Given the description of an element on the screen output the (x, y) to click on. 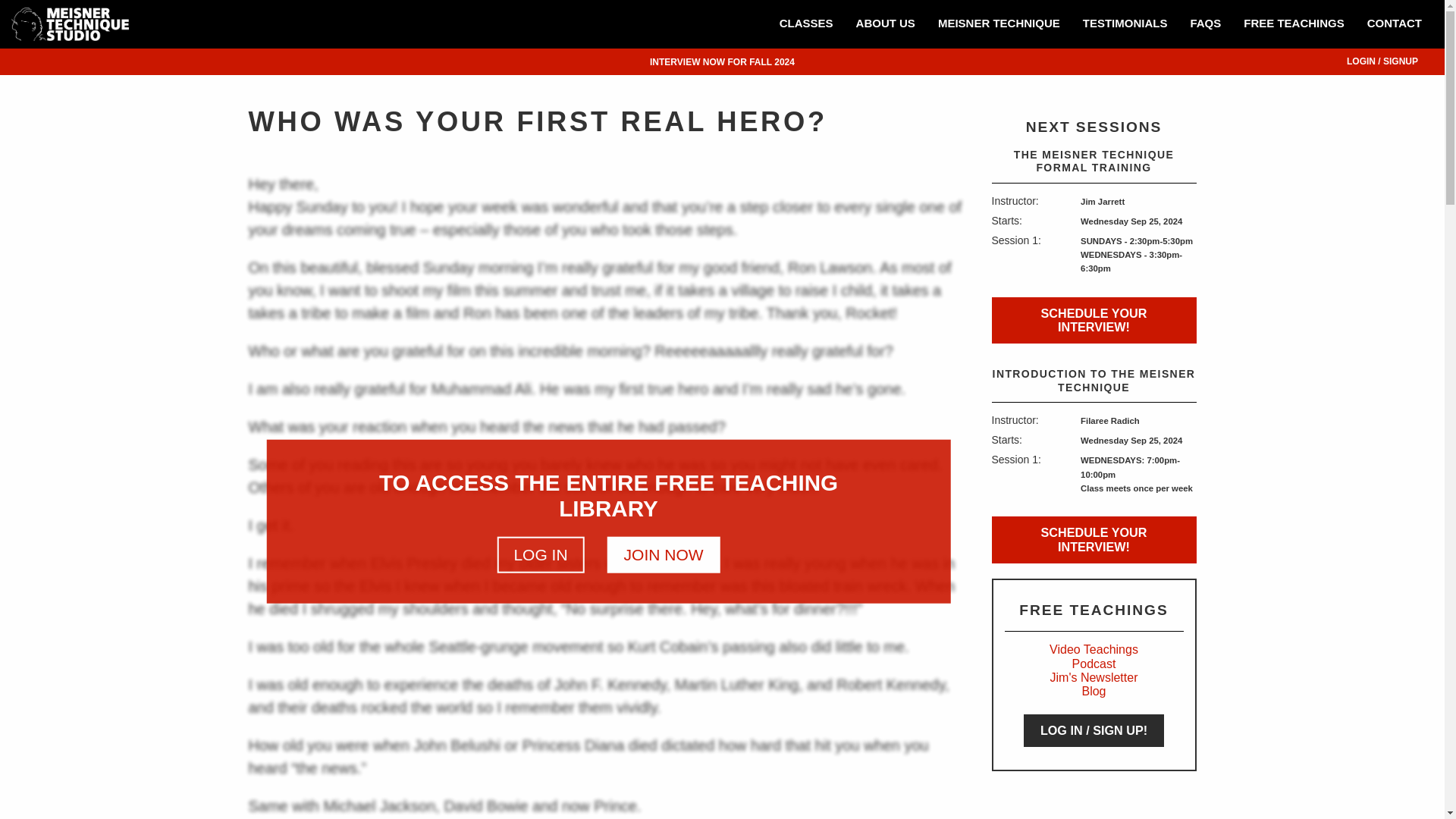
CLASSES (806, 23)
LOG IN (539, 554)
MEISNER TECHNIQUE (998, 23)
ABOUT US (885, 23)
INTERVIEW NOW FOR FALL 2024 (721, 61)
CONTACT (1393, 23)
JOIN NOW (663, 554)
TESTIMONIALS (1125, 23)
FREE TEACHINGS (1293, 23)
FAQS (1204, 23)
